Given the description of an element on the screen output the (x, y) to click on. 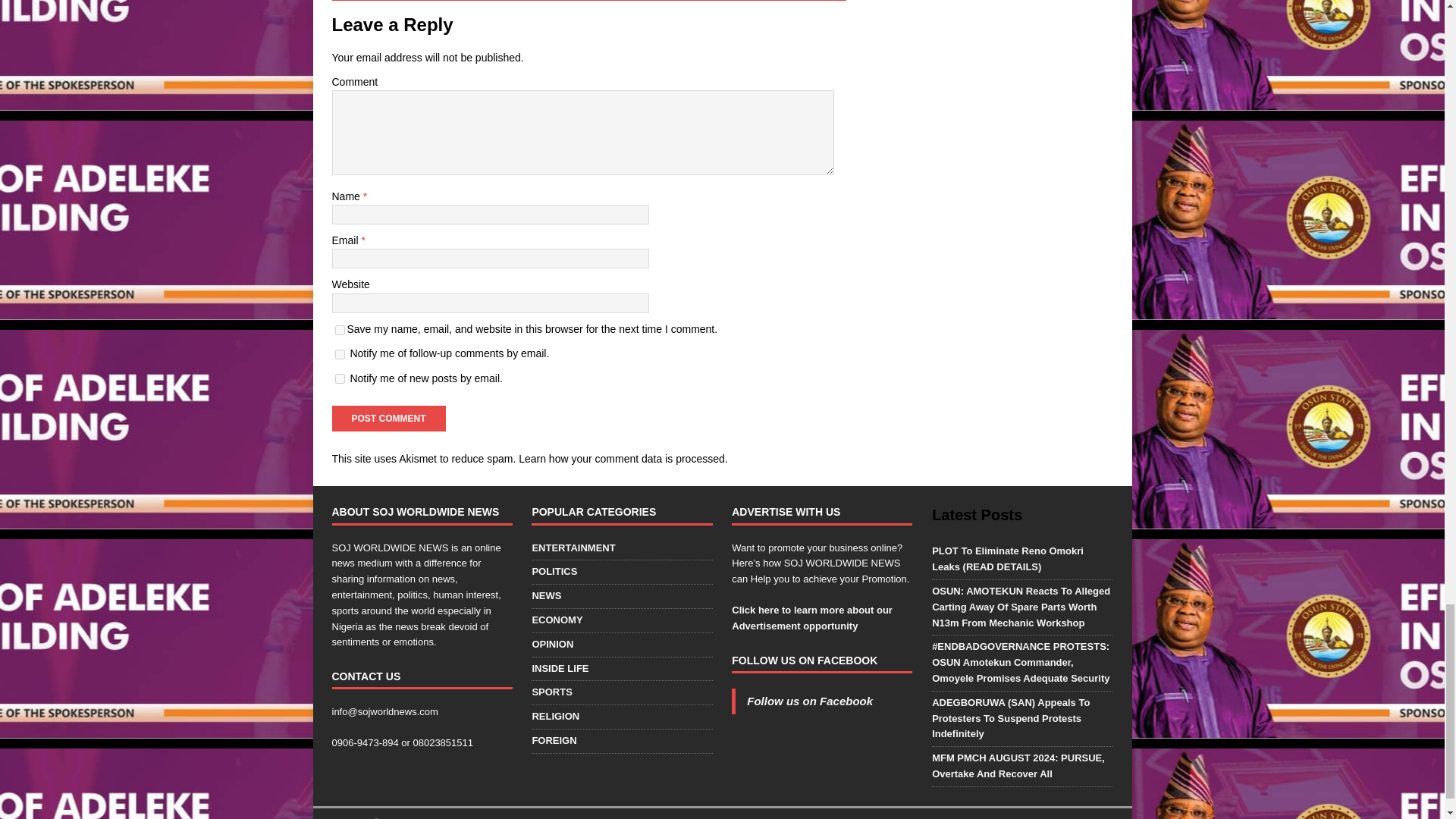
Post Comment (388, 418)
subscribe (339, 378)
yes (339, 329)
subscribe (339, 354)
Post Comment (388, 418)
